Given the description of an element on the screen output the (x, y) to click on. 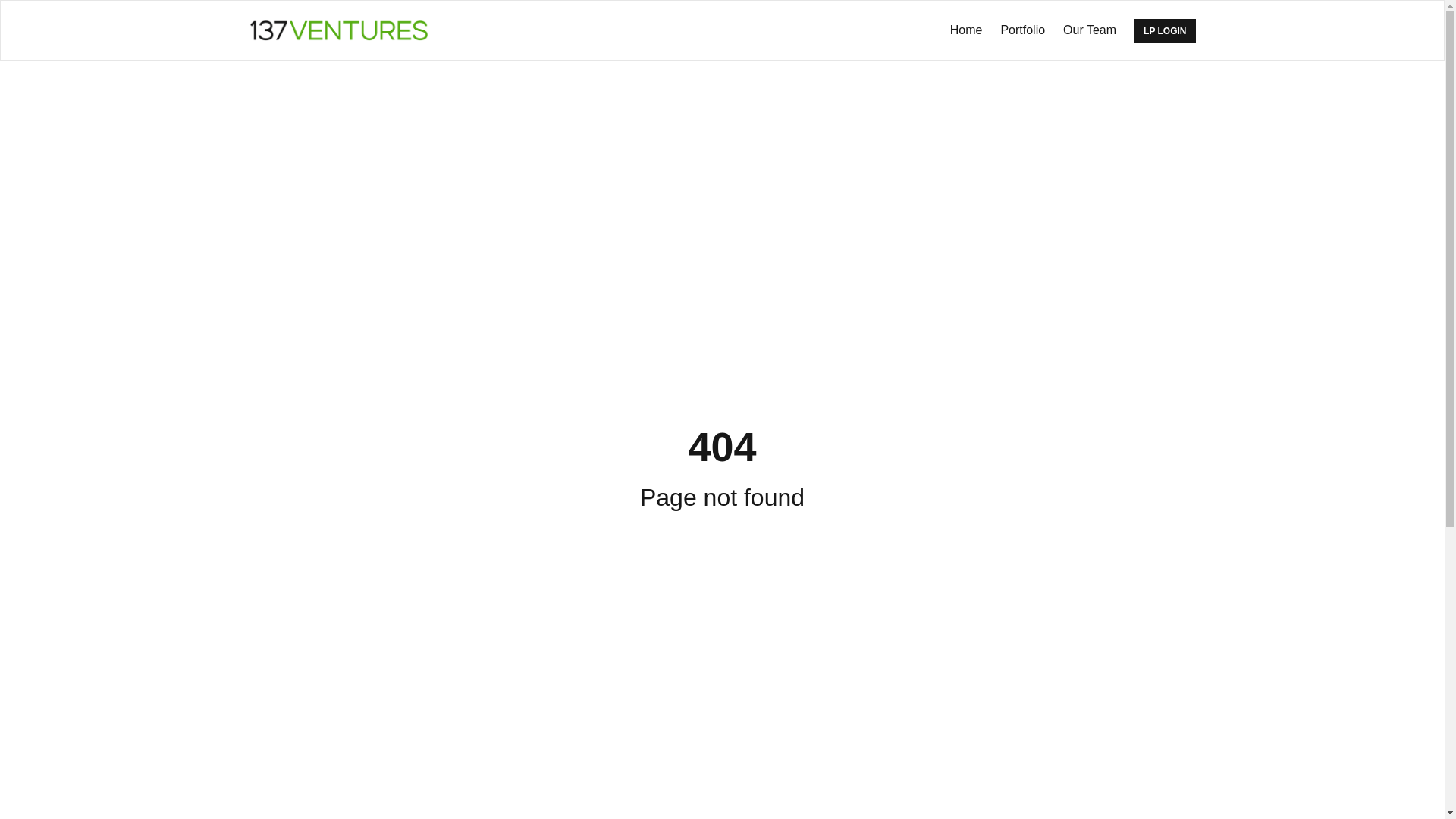
Home Element type: text (966, 30)
Portfolio Element type: text (1022, 30)
Our Team Element type: text (1089, 30)
LP LOGIN Element type: text (1164, 30)
